Given the description of an element on the screen output the (x, y) to click on. 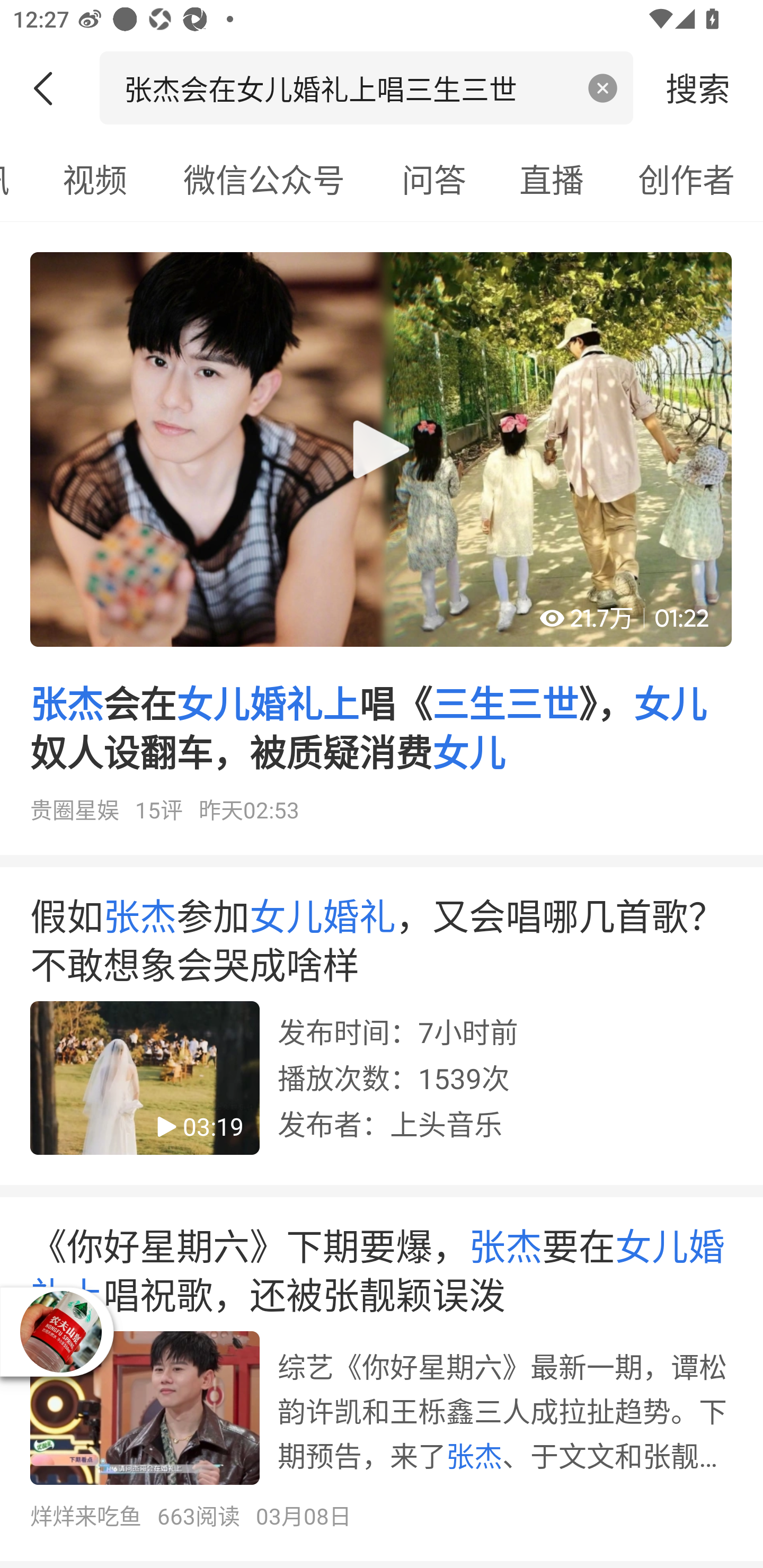
返回 (49, 87)
搜索 (698, 87)
张杰会在女儿婚礼上唱三生三世 (347, 87)
清空 (602, 88)
视频，可选中 (94, 179)
微信公众号，可选中 (264, 179)
问答，可选中 (433, 179)
直播，可选中 (551, 179)
创作者，可选中 (686, 179)
张杰会在女儿婚礼上唱《三生三世》，女儿奴人设翻车，被质疑消费女儿 (381, 544)
假如张杰参加女儿婚礼，又会唱哪几首歌？不敢想象会哭成啥样 (381, 1032)
播放器 (60, 1331)
